Given the description of an element on the screen output the (x, y) to click on. 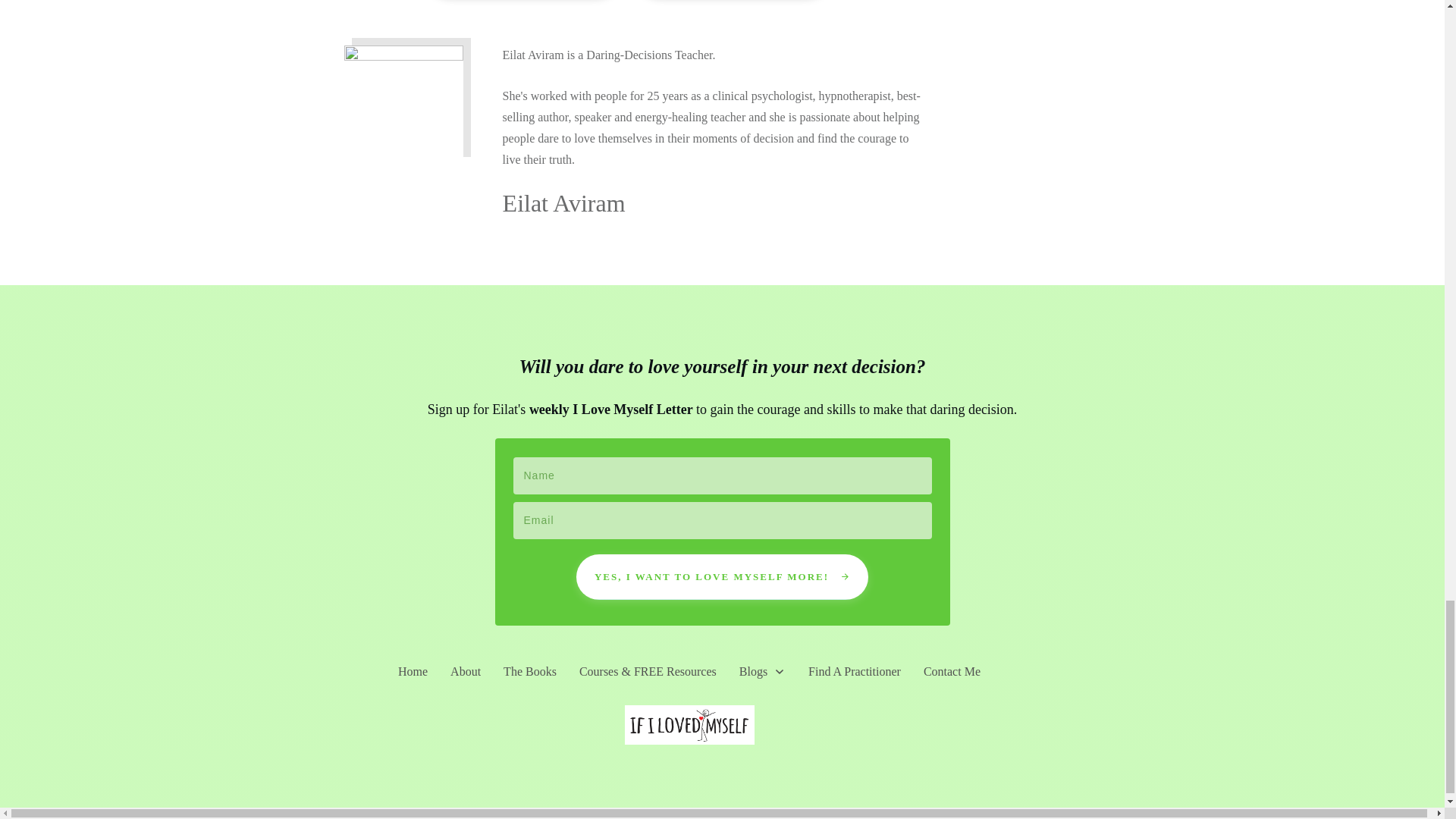
Home (412, 671)
About (464, 671)
YES, I WANT TO LOVE MYSELF MORE! (721, 576)
The Books (529, 671)
typorama-14 (403, 104)
Blogs (762, 671)
